Given the description of an element on the screen output the (x, y) to click on. 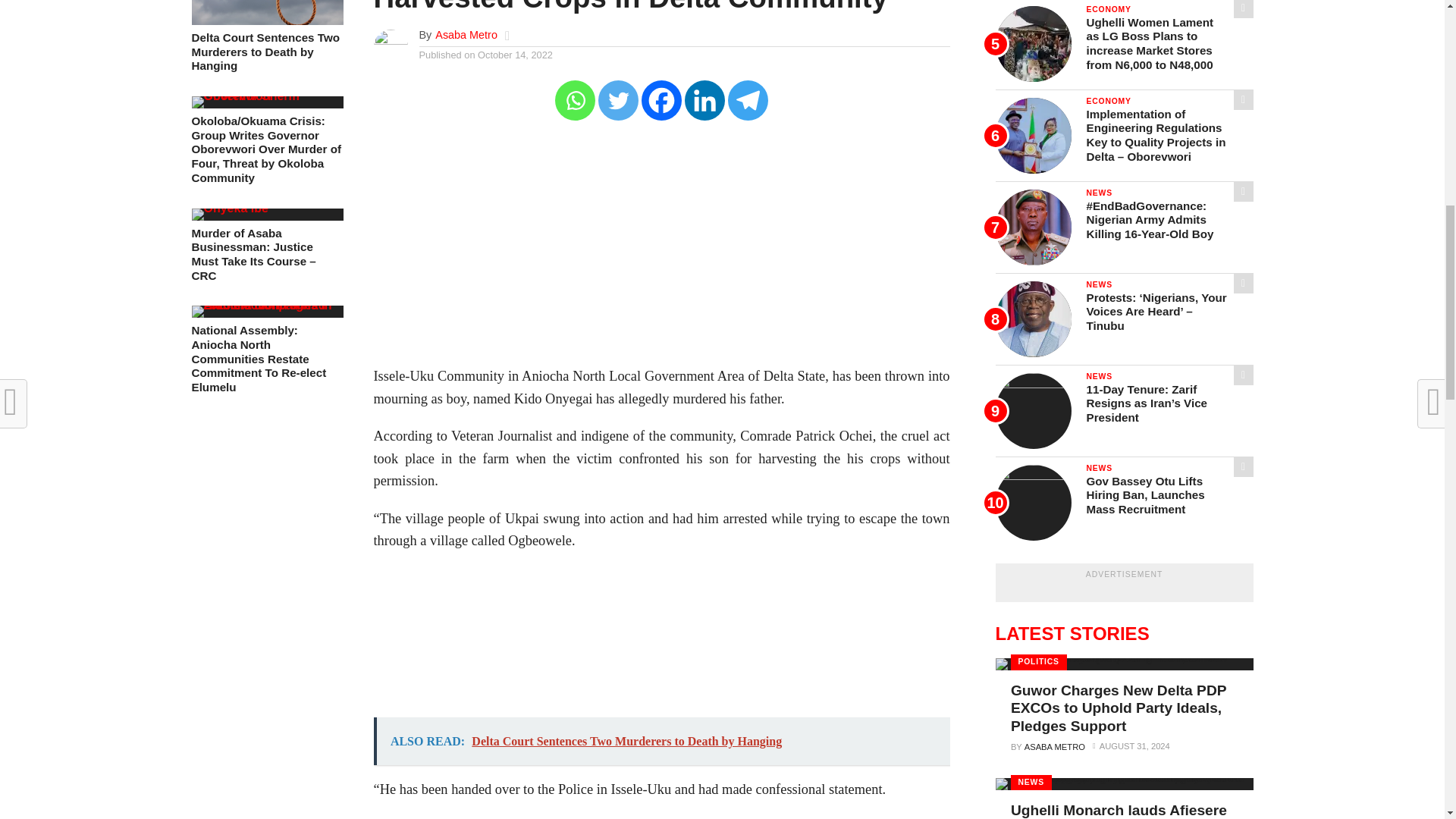
Twitter (618, 100)
Whatsapp (574, 100)
Telegram (748, 100)
Delta Court Sentences Two Murderers to Death by Hanging (266, 52)
Delta Court Sentences Two Murderers to Death by Hanging (266, 20)
Linkedin (704, 100)
Facebook (661, 100)
Posts by Asaba Metro (466, 34)
